Given the description of an element on the screen output the (x, y) to click on. 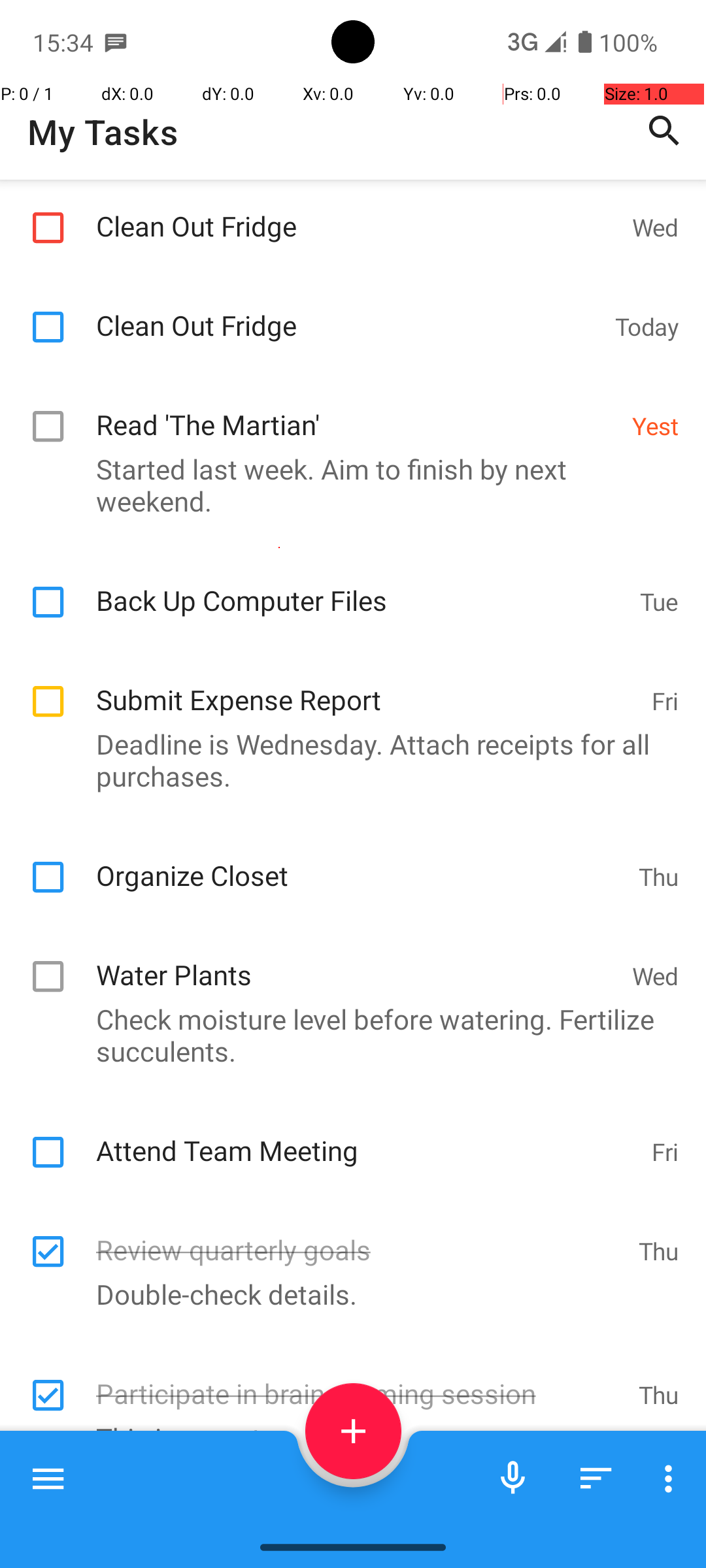
My Tasks Element type: android.widget.TextView (102, 131)
Sort Element type: android.widget.Button (595, 1478)
Create new task Element type: android.widget.ImageButton (353, 1431)
Clean Out Fridge Element type: android.widget.TextView (357, 211)
Wed Element type: android.widget.TextView (655, 226)
Read 'The Martian' Element type: android.widget.TextView (357, 410)
Started last week. Aim to finish by next weekend. Element type: android.widget.TextView (346, 484)
Yest Element type: android.widget.TextView (655, 425)
Back Up Computer Files Element type: android.widget.TextView (361, 586)
Tue Element type: android.widget.TextView (659, 600)
Submit Expense Report Element type: android.widget.TextView (367, 685)
Deadline is Wednesday. Attach receipts for all purchases. Element type: android.widget.TextView (346, 759)
Fri Element type: android.widget.TextView (665, 700)
Organize Closet Element type: android.widget.TextView (360, 861)
Thu Element type: android.widget.TextView (658, 876)
Water Plants Element type: android.widget.TextView (357, 960)
Check moisture level before watering. Fertilize succulents. Element type: android.widget.TextView (346, 1034)
Attend Team Meeting Element type: android.widget.TextView (367, 1136)
Review quarterly goals Element type: android.widget.TextView (360, 1235)
Double-check details. Element type: android.widget.TextView (346, 1293)
Participate in brainstorming session Element type: android.widget.TextView (360, 1379)
This is urgent. Element type: android.widget.TextView (346, 1437)
Attend training session Element type: android.widget.TextView (360, 1508)
